Given the description of an element on the screen output the (x, y) to click on. 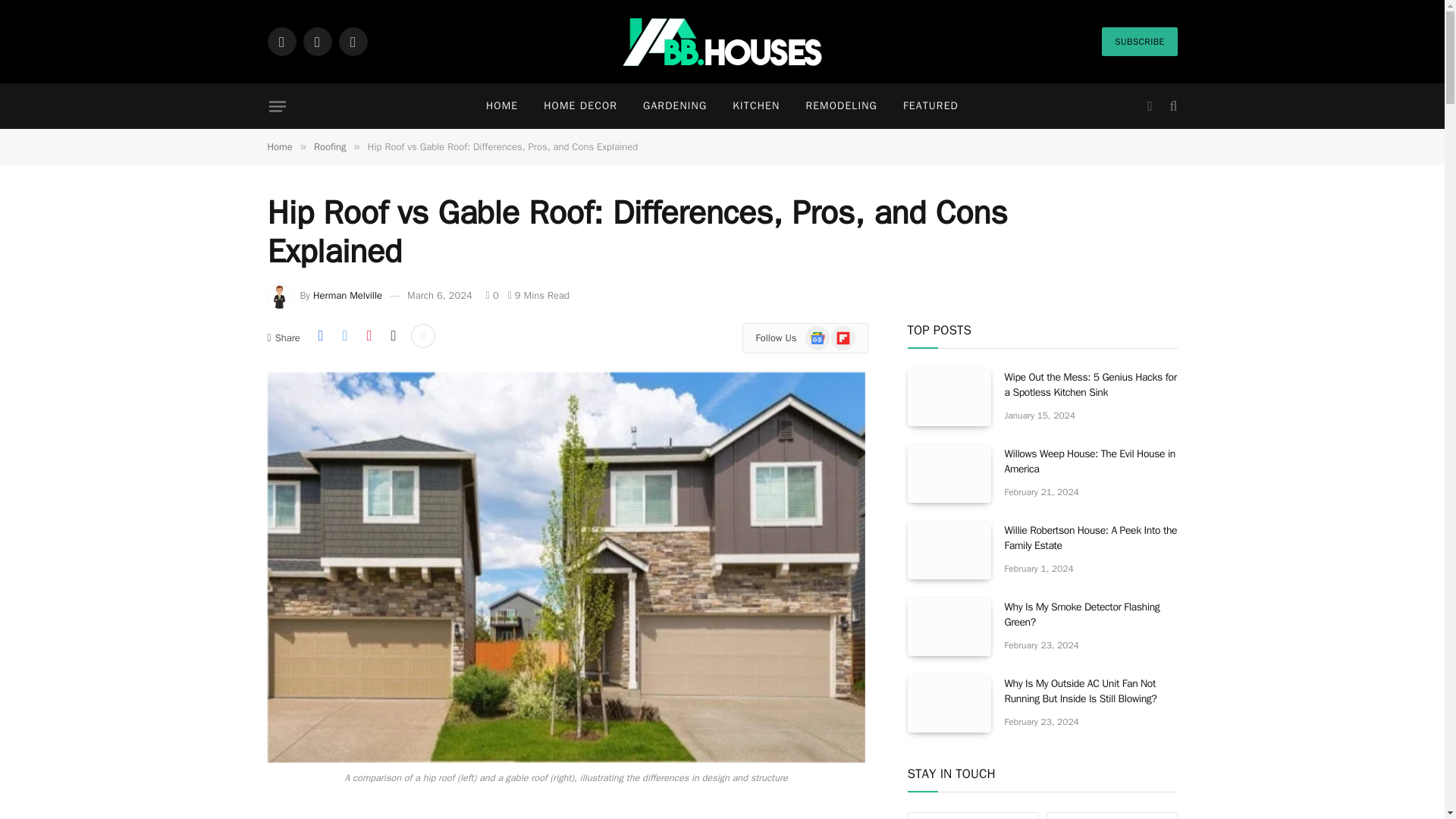
Herman Melville (347, 295)
GARDENING (674, 105)
FEATURED (930, 105)
Instagram (351, 41)
REMODELING (840, 105)
Share on Facebook (319, 335)
SUBSCRIBE (1139, 41)
Home (279, 146)
Bloxburg Houses (722, 41)
Facebook (280, 41)
